Given the description of an element on the screen output the (x, y) to click on. 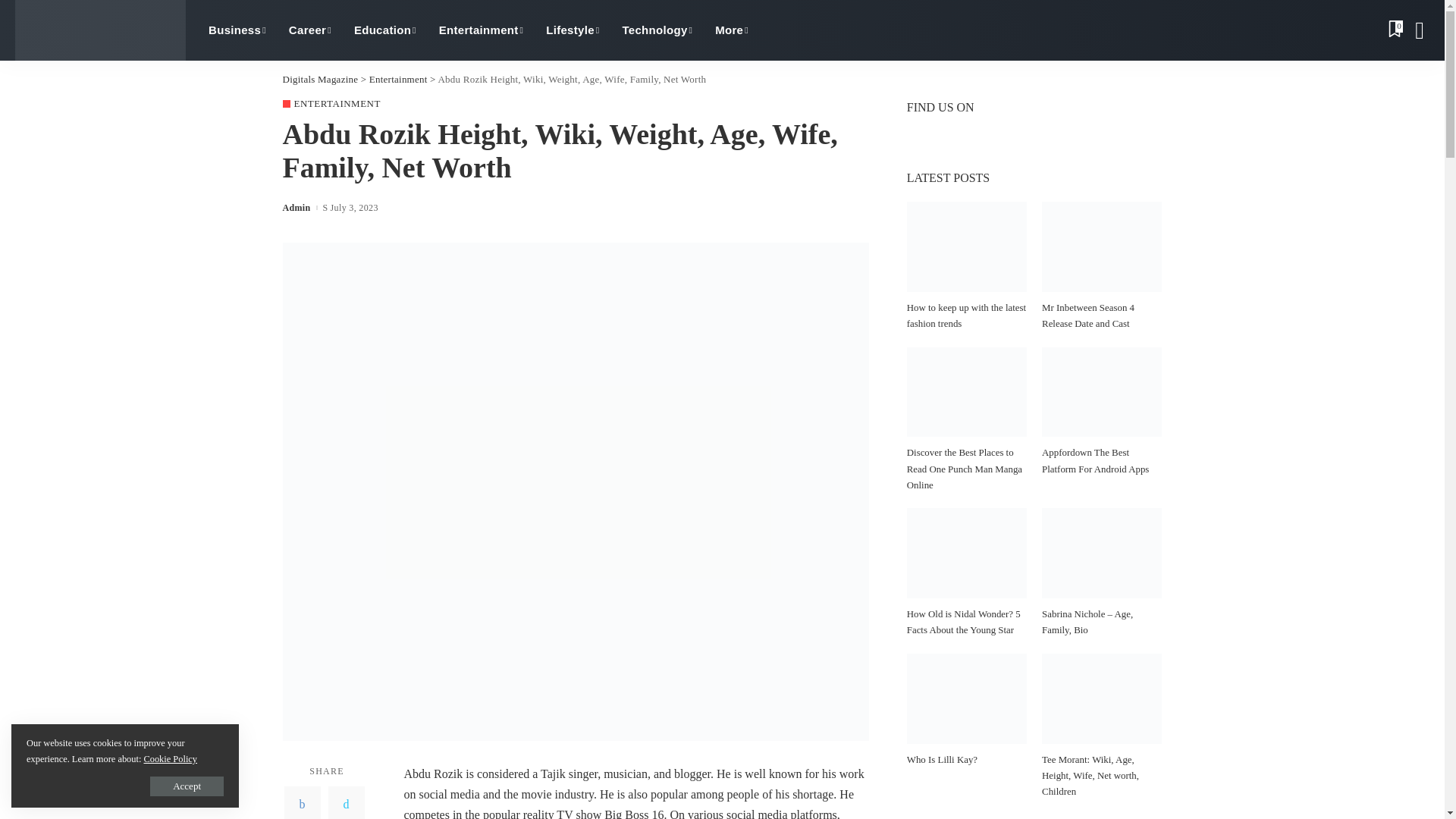
Digitals Magazine (100, 30)
Go to Digitals Magazine. (320, 79)
Go to the Entertainment Category archives. (398, 79)
Facebook (301, 802)
Twitter (345, 802)
